Given the description of an element on the screen output the (x, y) to click on. 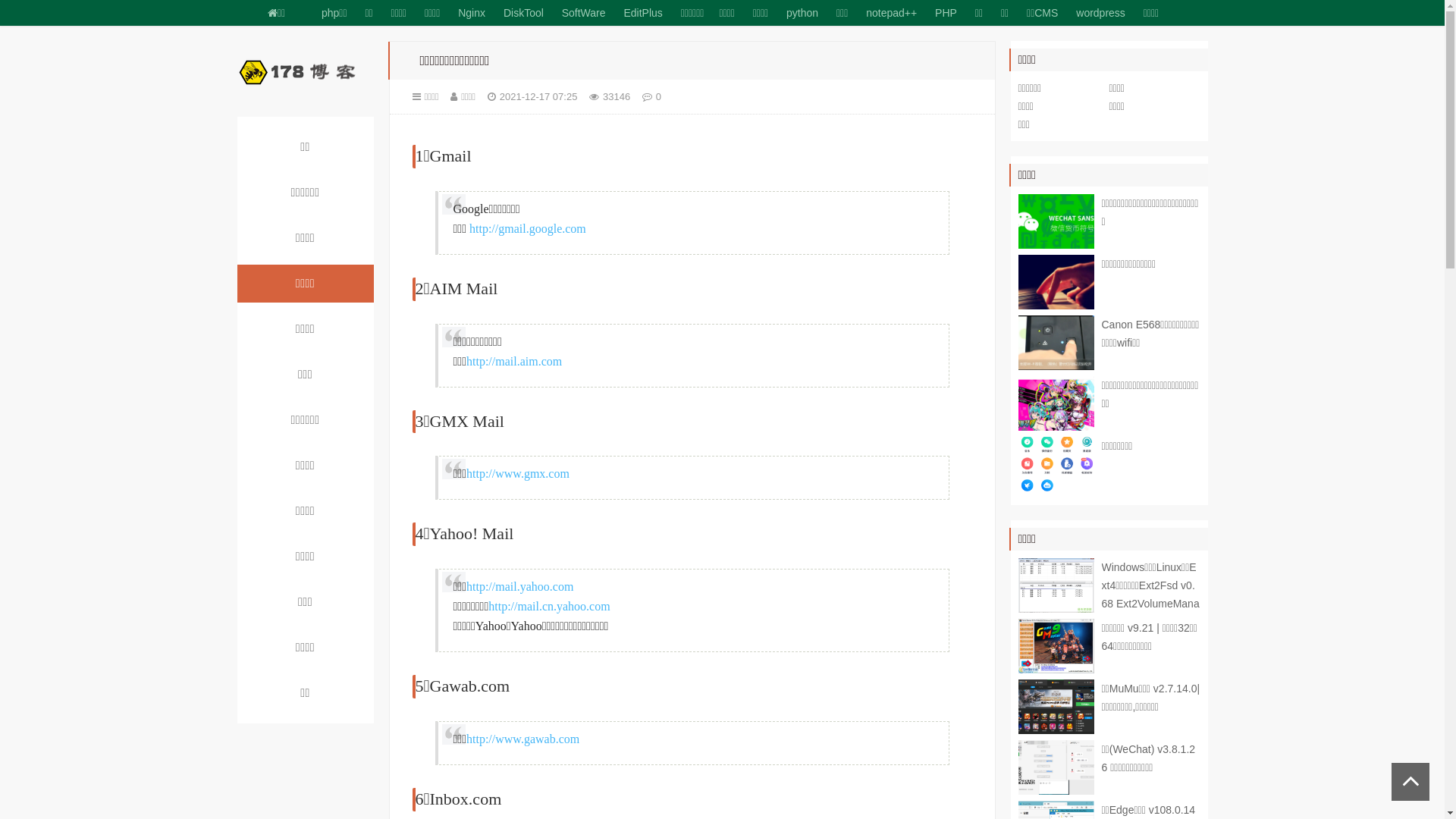
PHP Element type: text (945, 12)
http://www.gawab.com Element type: text (522, 738)
http://mail.yahoo.com Element type: text (519, 586)
EditPlus Element type: text (642, 12)
http://gmail.google.com Element type: text (527, 228)
python Element type: text (801, 12)
SoftWare Element type: text (583, 12)
notepad++ Element type: text (891, 12)
http://www.gmx.com Element type: text (517, 473)
http://mail.cn.yahoo.com Element type: text (548, 605)
Nginx Element type: text (471, 12)
DiskTool Element type: text (523, 12)
http://mail.aim.com Element type: text (513, 360)
wordpress Element type: text (1100, 12)
